Given the description of an element on the screen output the (x, y) to click on. 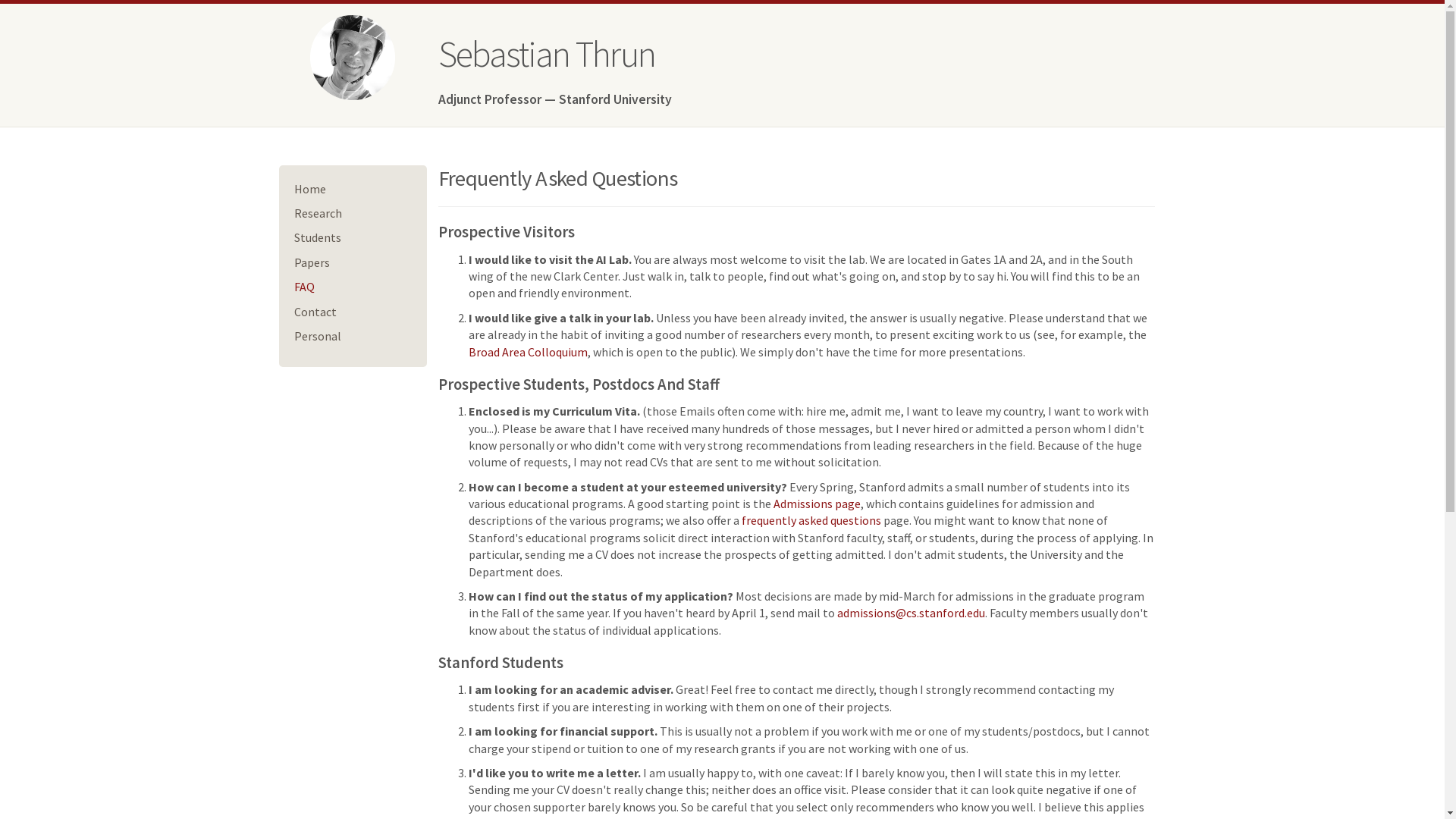
frequently asked questions Element type: text (811, 519)
Admissions page Element type: text (816, 503)
FAQ Element type: text (304, 286)
Broad Area Colloquium Element type: text (527, 351)
Home Element type: text (310, 188)
Research Element type: text (318, 212)
Personal Element type: text (317, 335)
Papers Element type: text (311, 261)
Students Element type: text (317, 236)
Contact Element type: text (315, 311)
admissions@cs.stanford.edu Element type: text (911, 612)
